Given the description of an element on the screen output the (x, y) to click on. 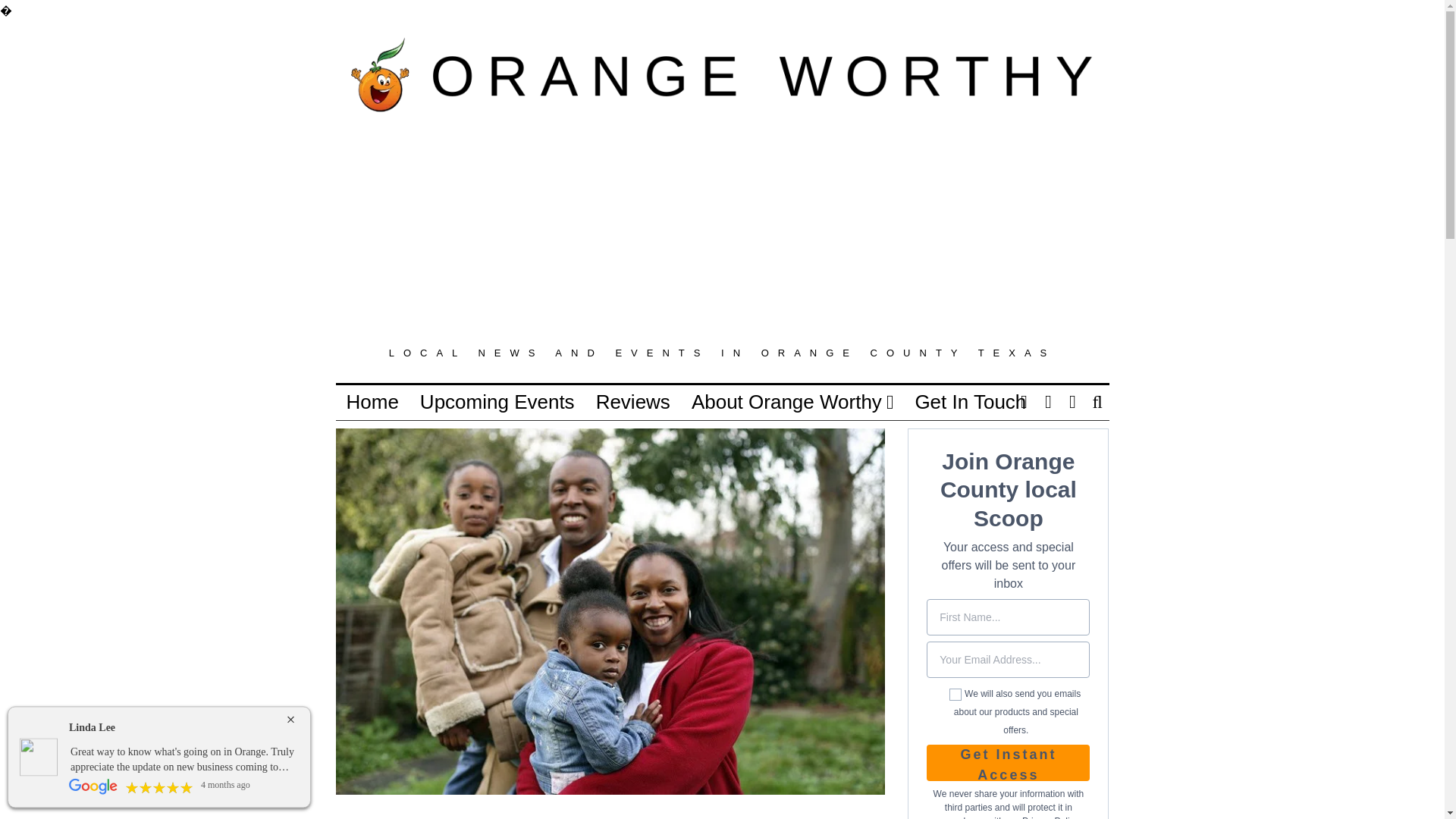
Privacy Policy (1050, 817)
Get In Touch (970, 401)
Get Instant Access (1007, 762)
Upcoming Events (497, 401)
Home (371, 401)
About Orange Worthy (792, 401)
Reviews (633, 401)
